Given the description of an element on the screen output the (x, y) to click on. 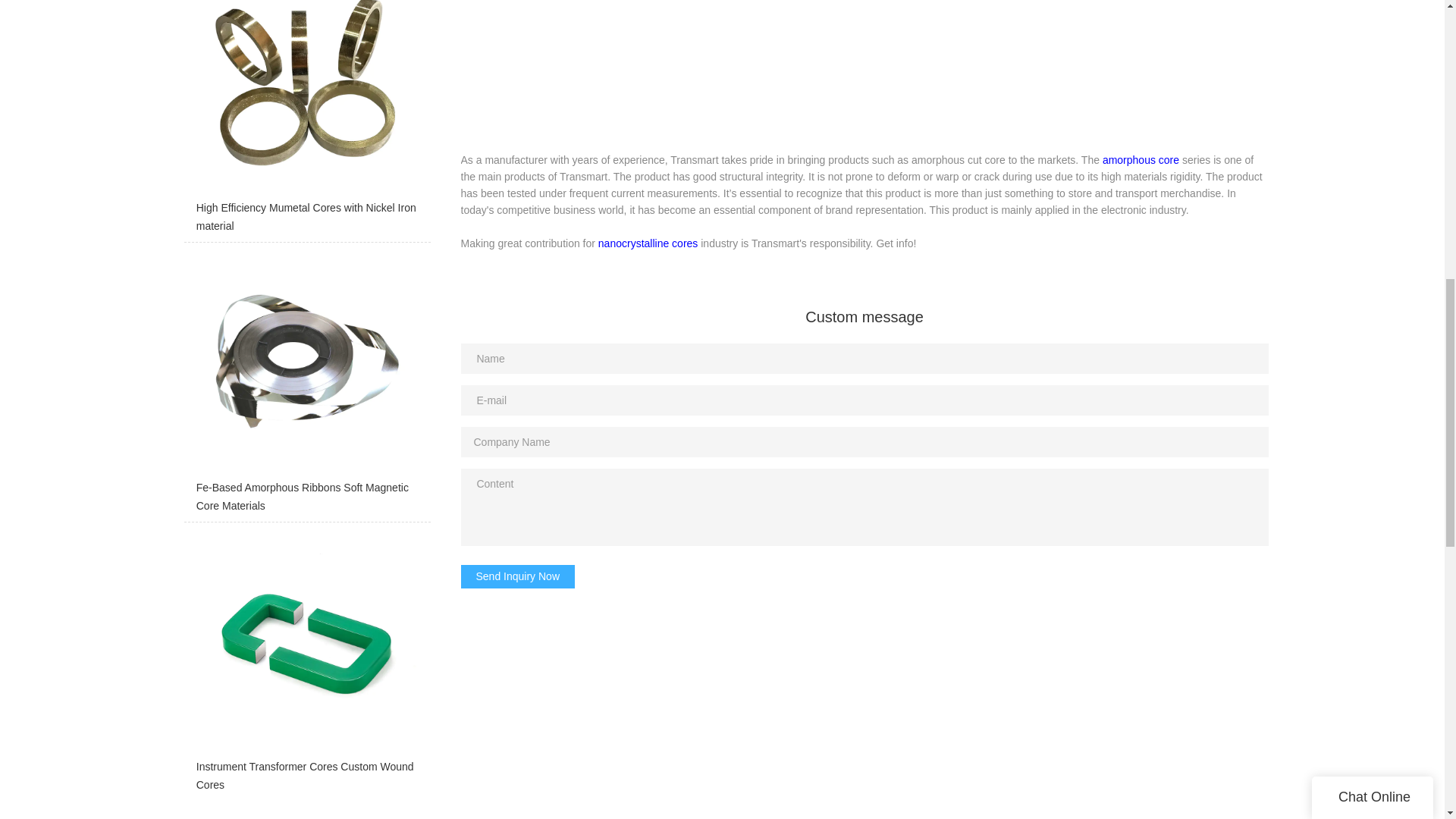
Fe-Based Amorphous Ribbons Soft Magnetic Core Materials (306, 385)
amorphous core (1140, 159)
Instrument Transformer Cores Custom Wound Cores (306, 665)
Send Inquiry Now (518, 576)
High Efficiency Mumetal Cores with Nickel Iron material (306, 121)
nanocrystalline cores (648, 243)
